Given the description of an element on the screen output the (x, y) to click on. 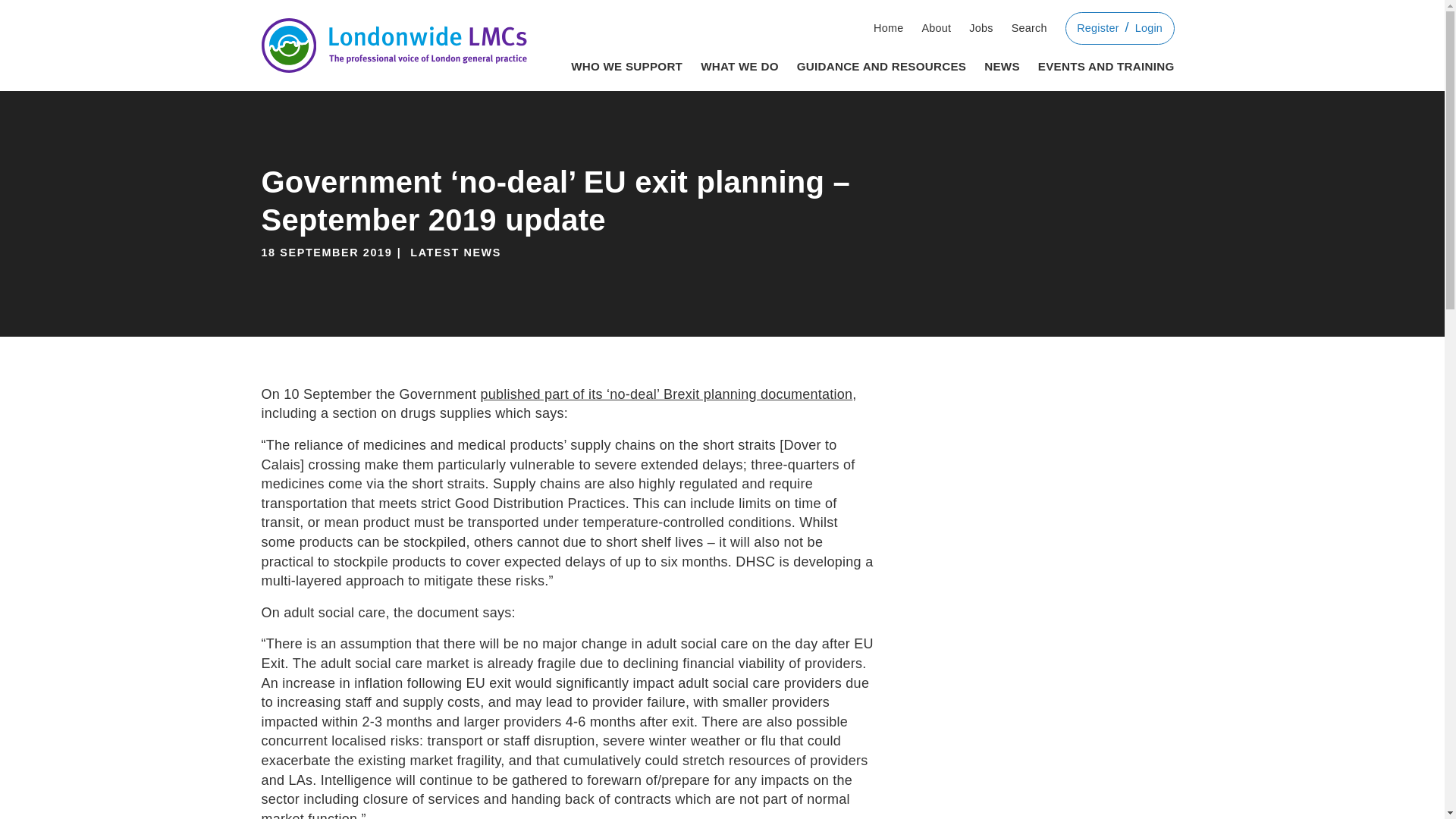
EVENTS AND TRAINING (1106, 64)
Login (1148, 28)
WHO WE SUPPORT (626, 64)
Jobs (980, 28)
WHAT WE DO (739, 64)
About (935, 28)
Register (1098, 28)
Londonwide LMCs (392, 45)
NEWS (1002, 64)
GUIDANCE AND RESOURCES (881, 64)
Home (887, 28)
